Given the description of an element on the screen output the (x, y) to click on. 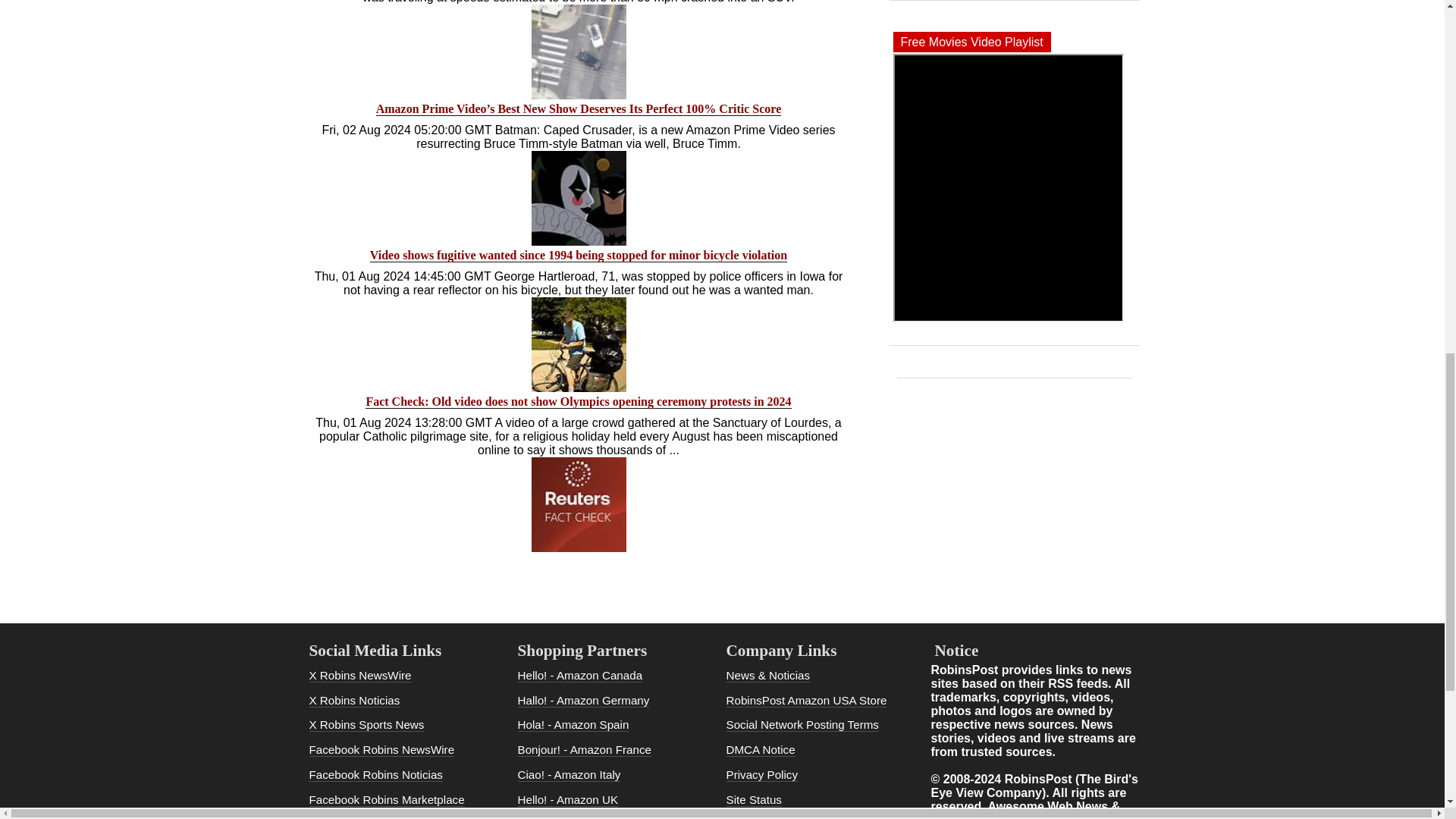
X Robins Noticias (354, 700)
RobinsPost Amazon USA Store (806, 700)
Site Status (753, 799)
Privacy Policy (761, 775)
Hello! - Amazon UK (566, 799)
Hola! - Amazon Spain (572, 725)
Facebook Robins Noticias (375, 775)
DMCA Notice (760, 749)
X Robins Sports News (366, 725)
Social Network Posting Terms (802, 725)
Bonjour! - Amazon France (583, 749)
Hallo! - Amazon Germany (582, 700)
Ciao! - Amazon Italy (568, 775)
